Given the description of an element on the screen output the (x, y) to click on. 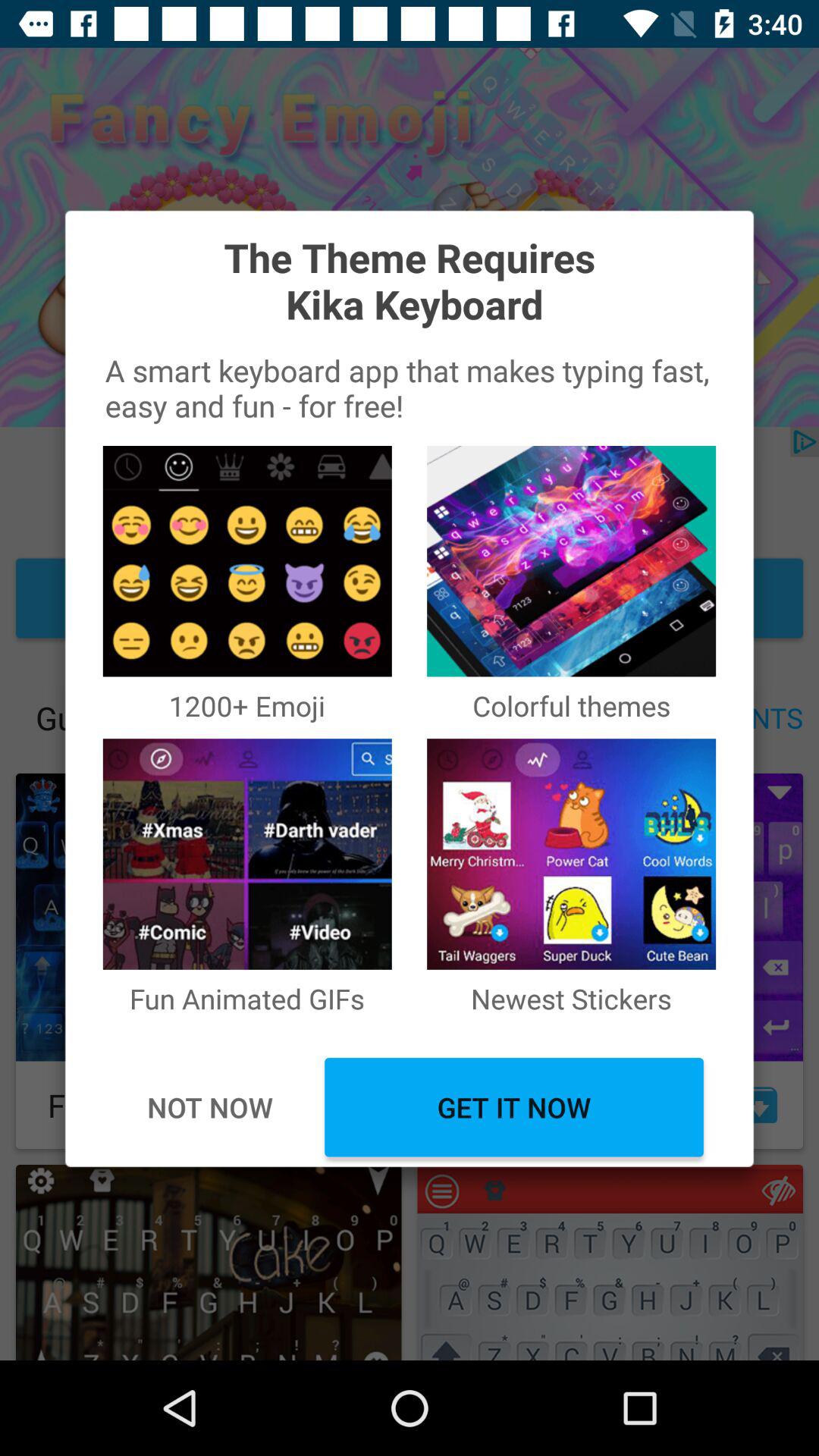
swipe until not now item (209, 1106)
